Given the description of an element on the screen output the (x, y) to click on. 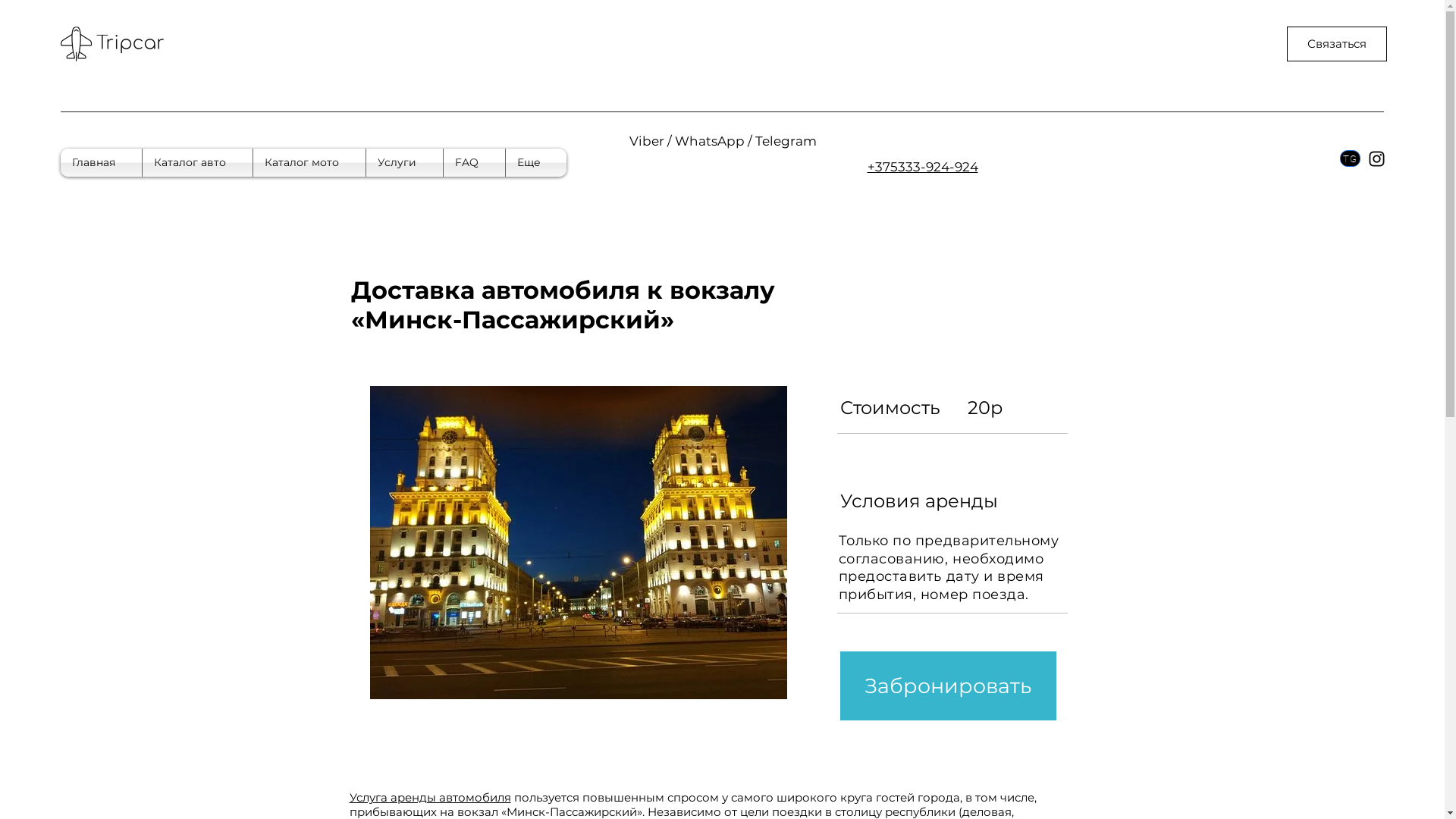
+375333-924-924 Element type: text (922, 166)
TG Element type: text (1349, 158)
FAQ Element type: text (474, 162)
